Given the description of an element on the screen output the (x, y) to click on. 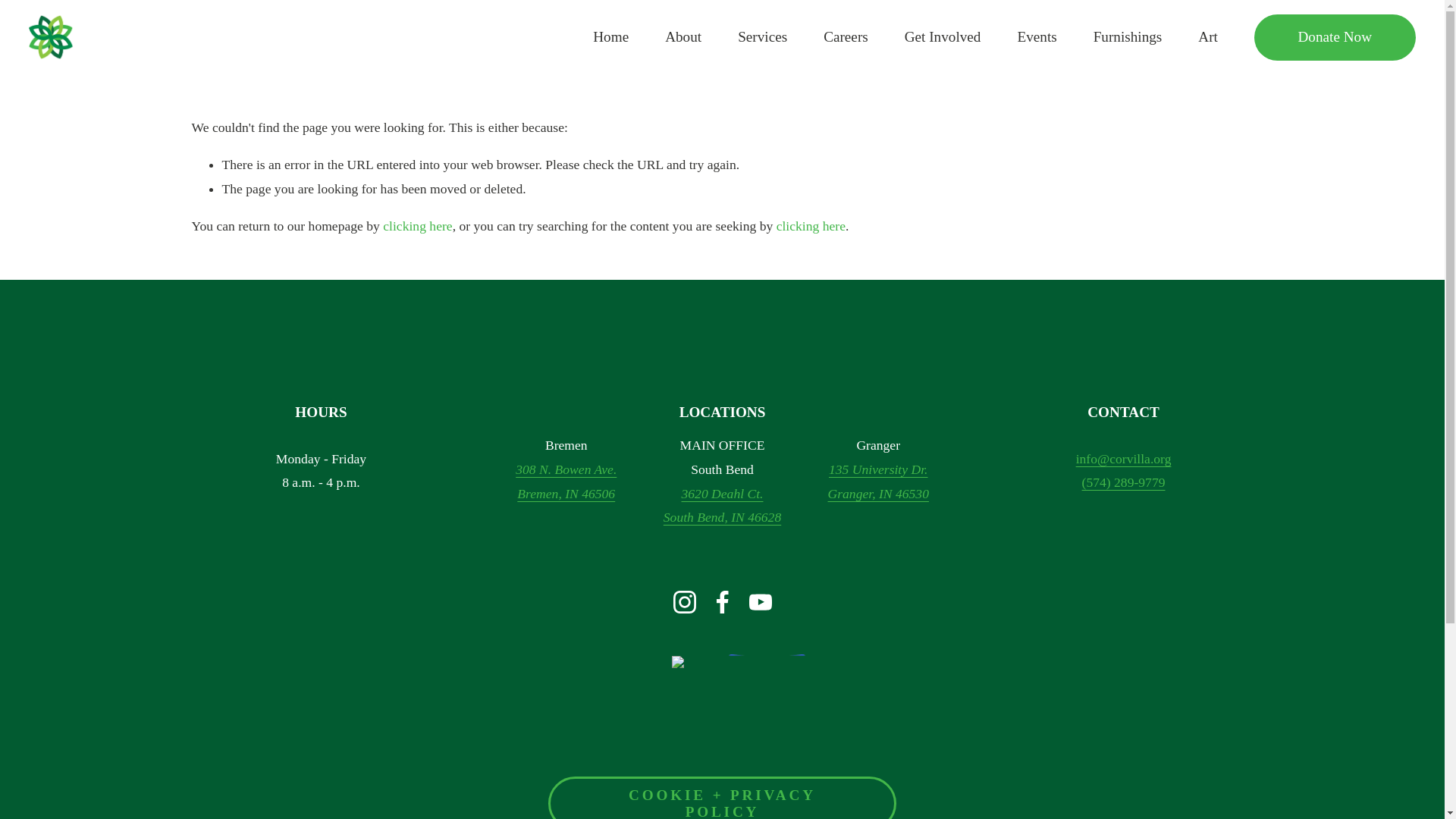
Services (762, 36)
Events (1036, 36)
Careers (845, 36)
Donate Now (1334, 36)
Home (610, 36)
About (683, 36)
Furnishings (1127, 36)
Get Involved (942, 36)
